Given the description of an element on the screen output the (x, y) to click on. 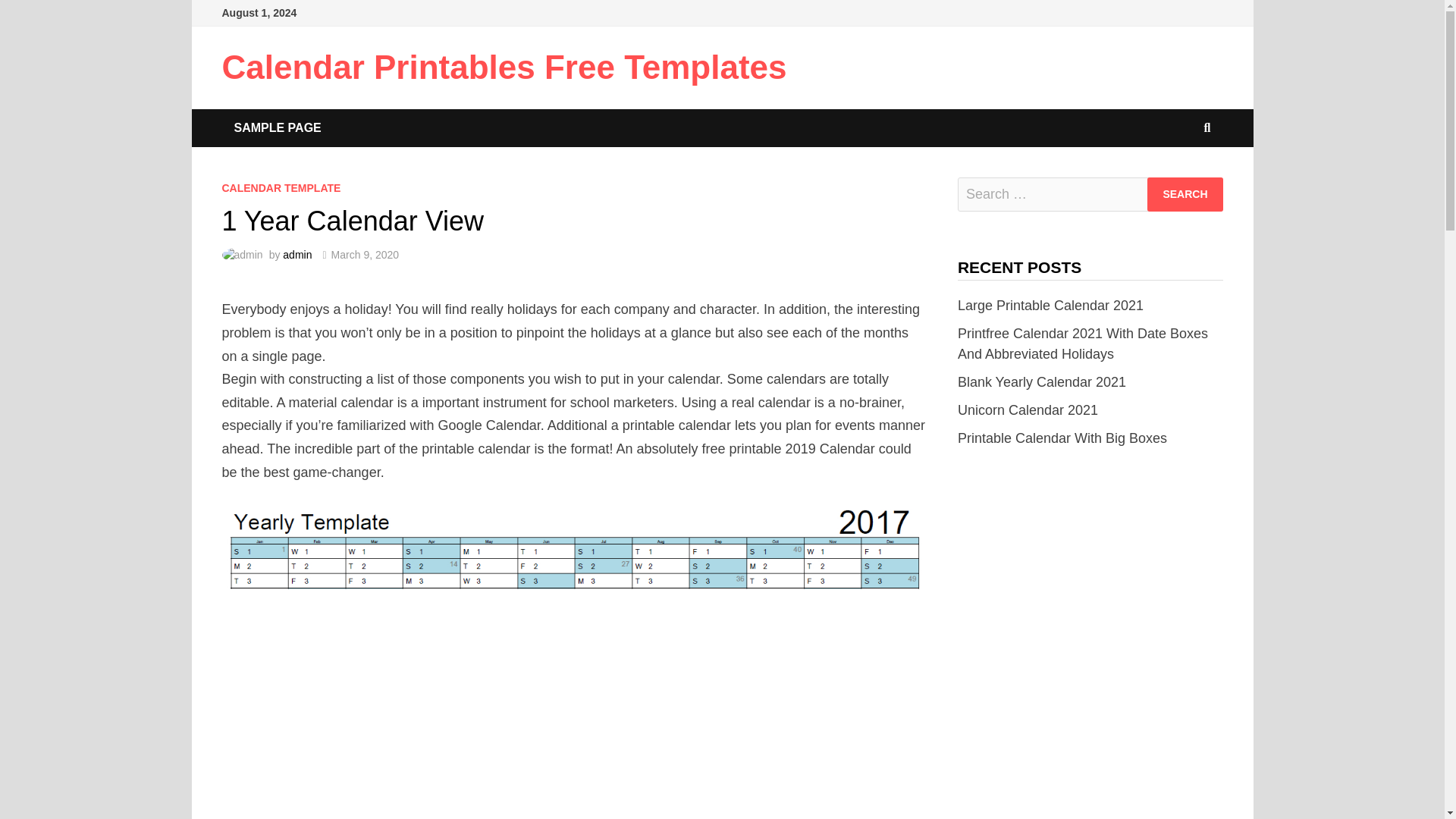
March 9, 2020 (364, 254)
Search (1185, 194)
SAMPLE PAGE (277, 127)
admin (296, 254)
CALENDAR TEMPLATE (280, 187)
Search (1185, 194)
Printable Calendar With Big Boxes (1062, 437)
Unicorn Calendar 2021 (1027, 409)
Calendar Printables Free Templates (503, 66)
Large Printable Calendar 2021 (1050, 305)
Blank Yearly Calendar 2021 (1041, 381)
Search (1185, 194)
